Given the description of an element on the screen output the (x, y) to click on. 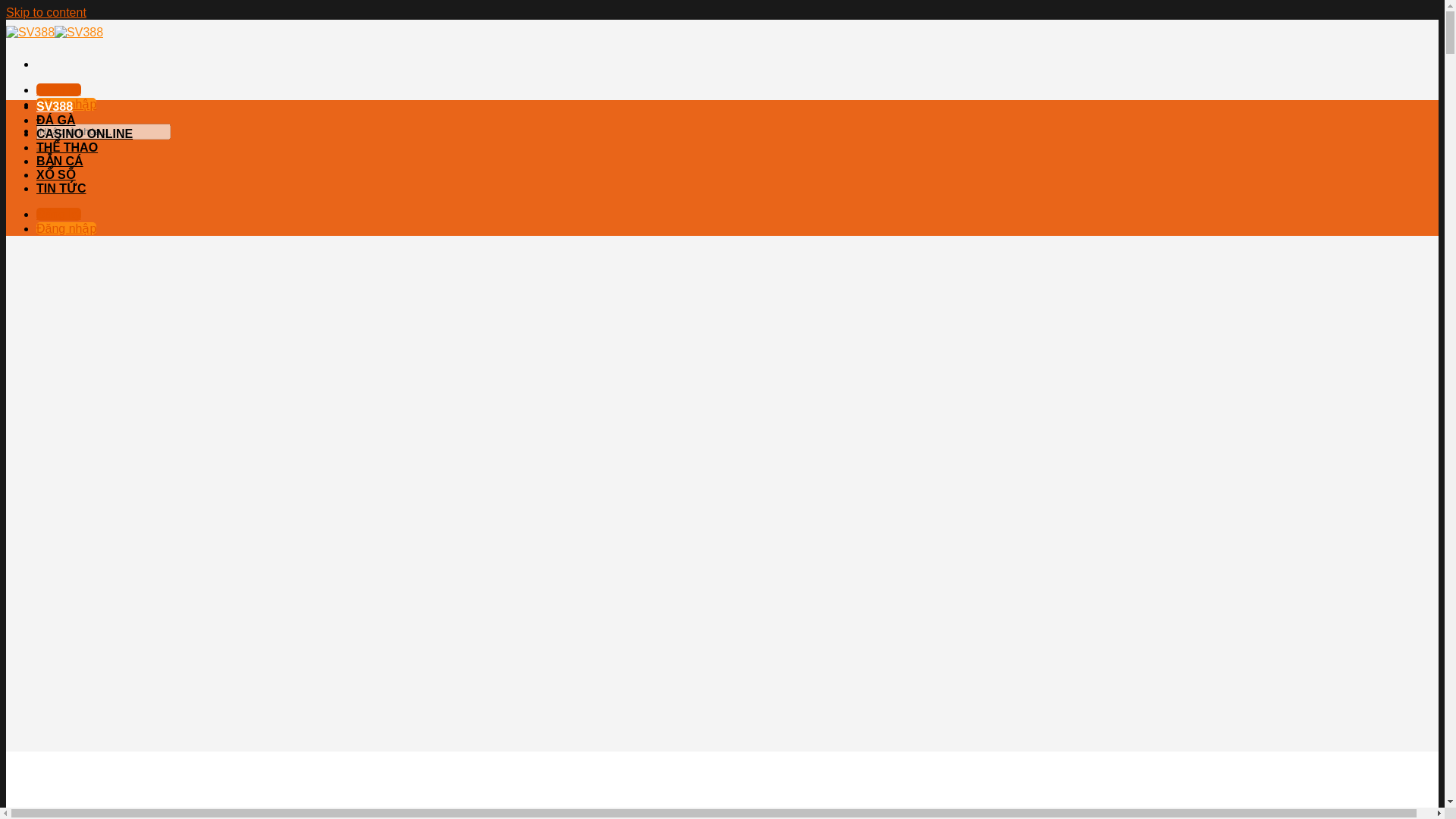
SV388 (54, 106)
Skip to content (45, 11)
CASINO ONLINE (84, 133)
